Given the description of an element on the screen output the (x, y) to click on. 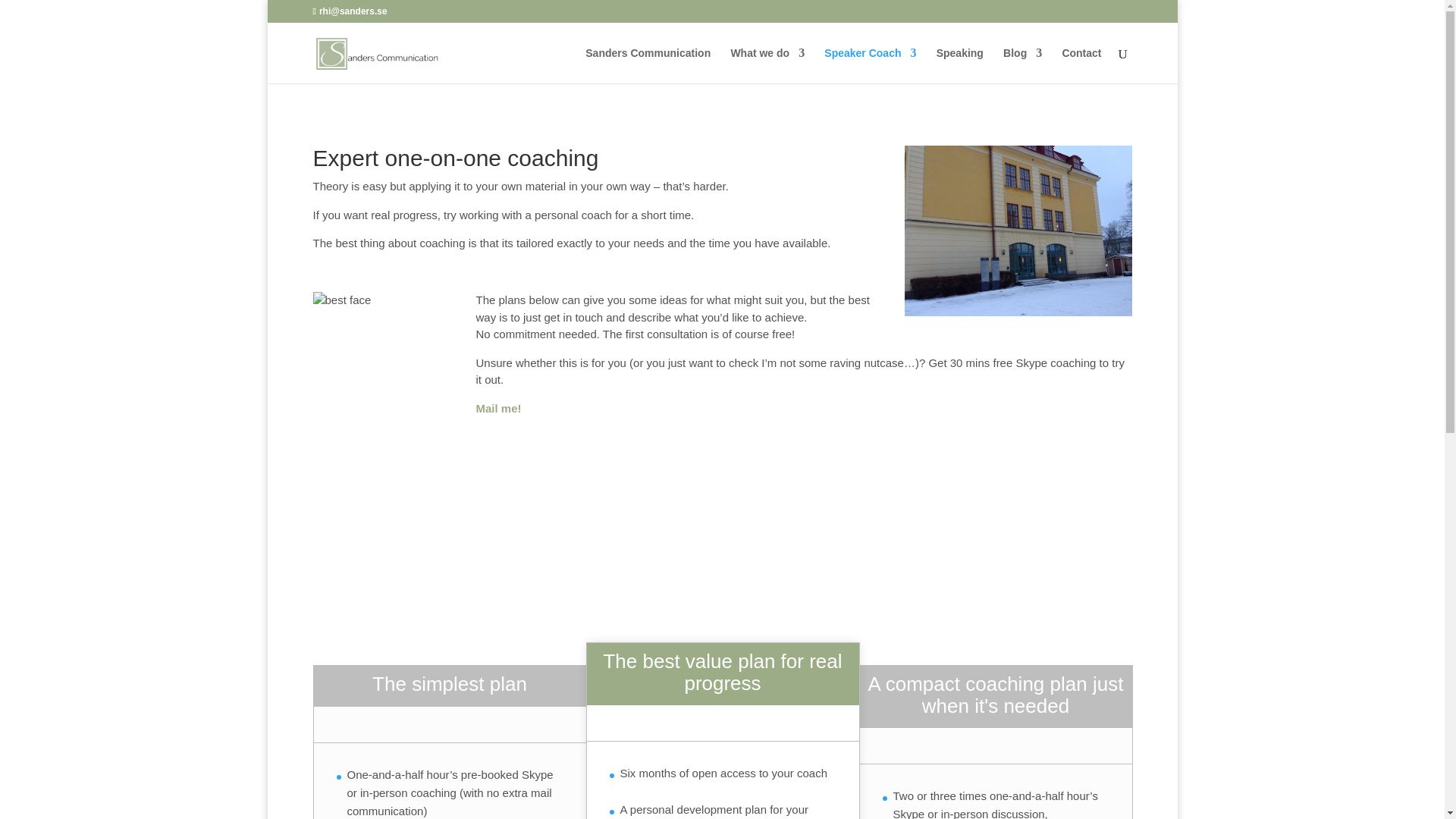
What we do (767, 65)
Contact (1080, 65)
Blog (1022, 65)
Speaking (960, 65)
Mail me! (498, 408)
Speaker Coach (869, 65)
Sanders Communication (647, 65)
